Given the description of an element on the screen output the (x, y) to click on. 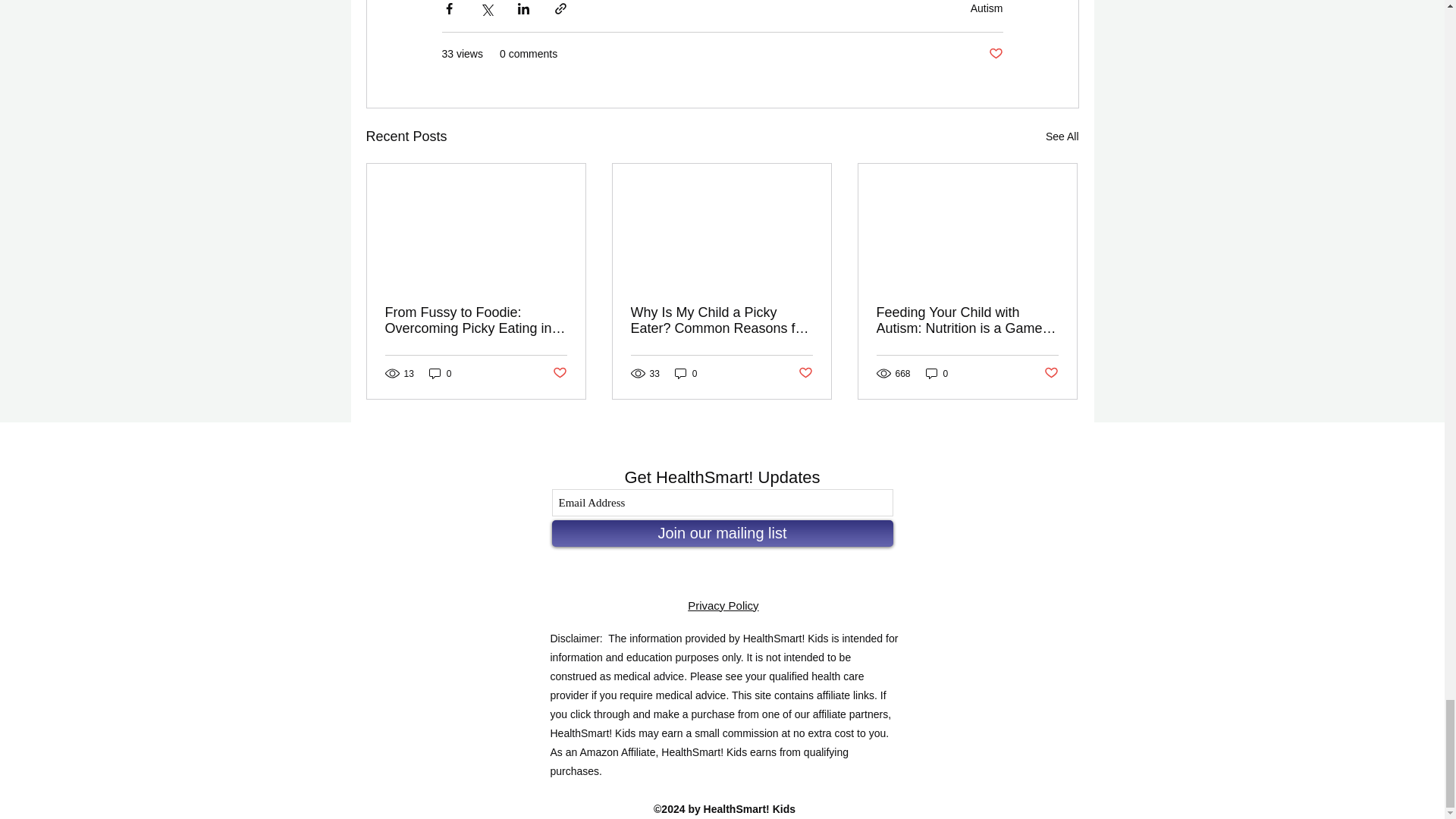
Autism (987, 8)
Post not marked as liked (995, 53)
See All (1061, 137)
0 (440, 373)
